Given the description of an element on the screen output the (x, y) to click on. 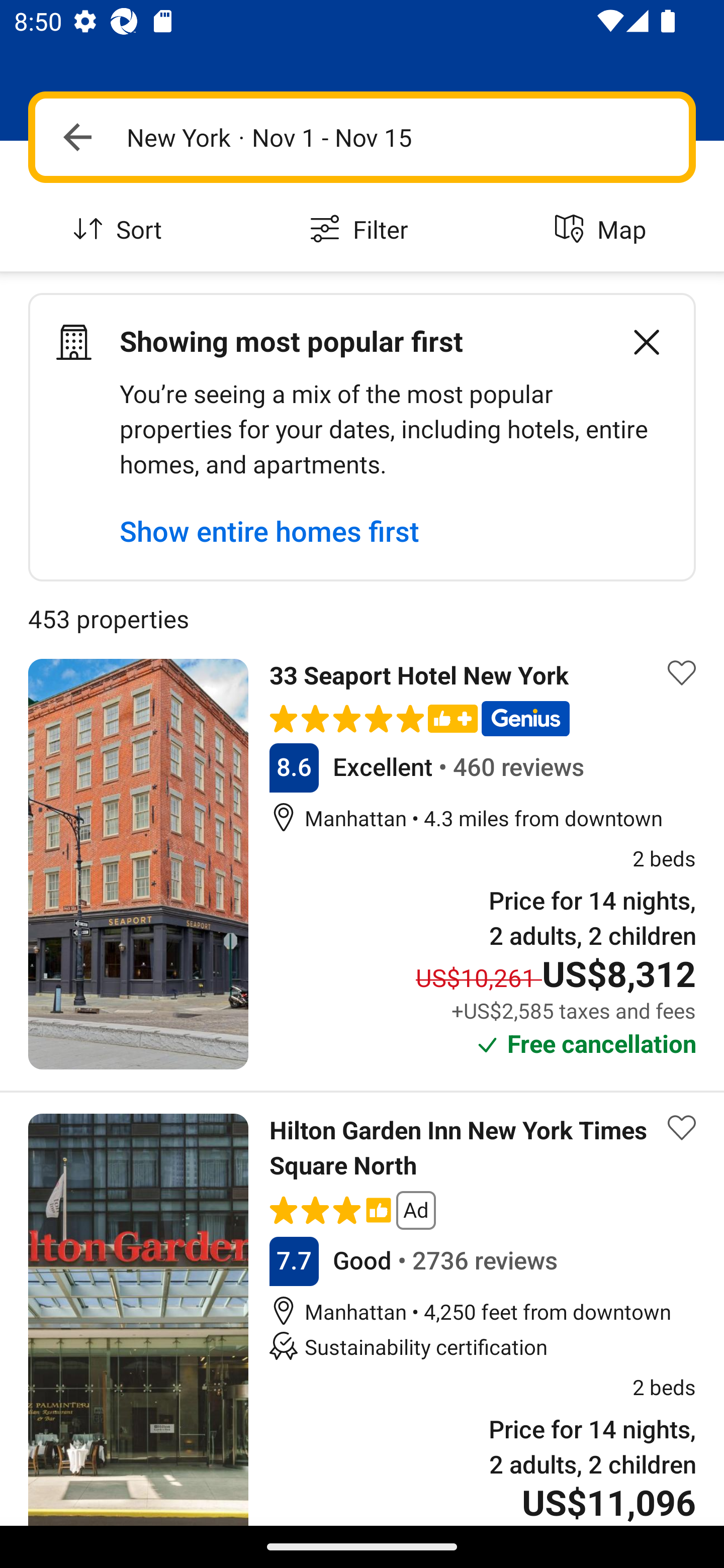
Navigate up New York · Nov 1 - Nov 15 (362, 136)
Navigate up (77, 136)
Sort (120, 230)
Filter (361, 230)
Map (603, 230)
Clear (635, 341)
Show entire homes first (269, 531)
Save property to list (681, 672)
Save property to list (681, 1127)
